Given the description of an element on the screen output the (x, y) to click on. 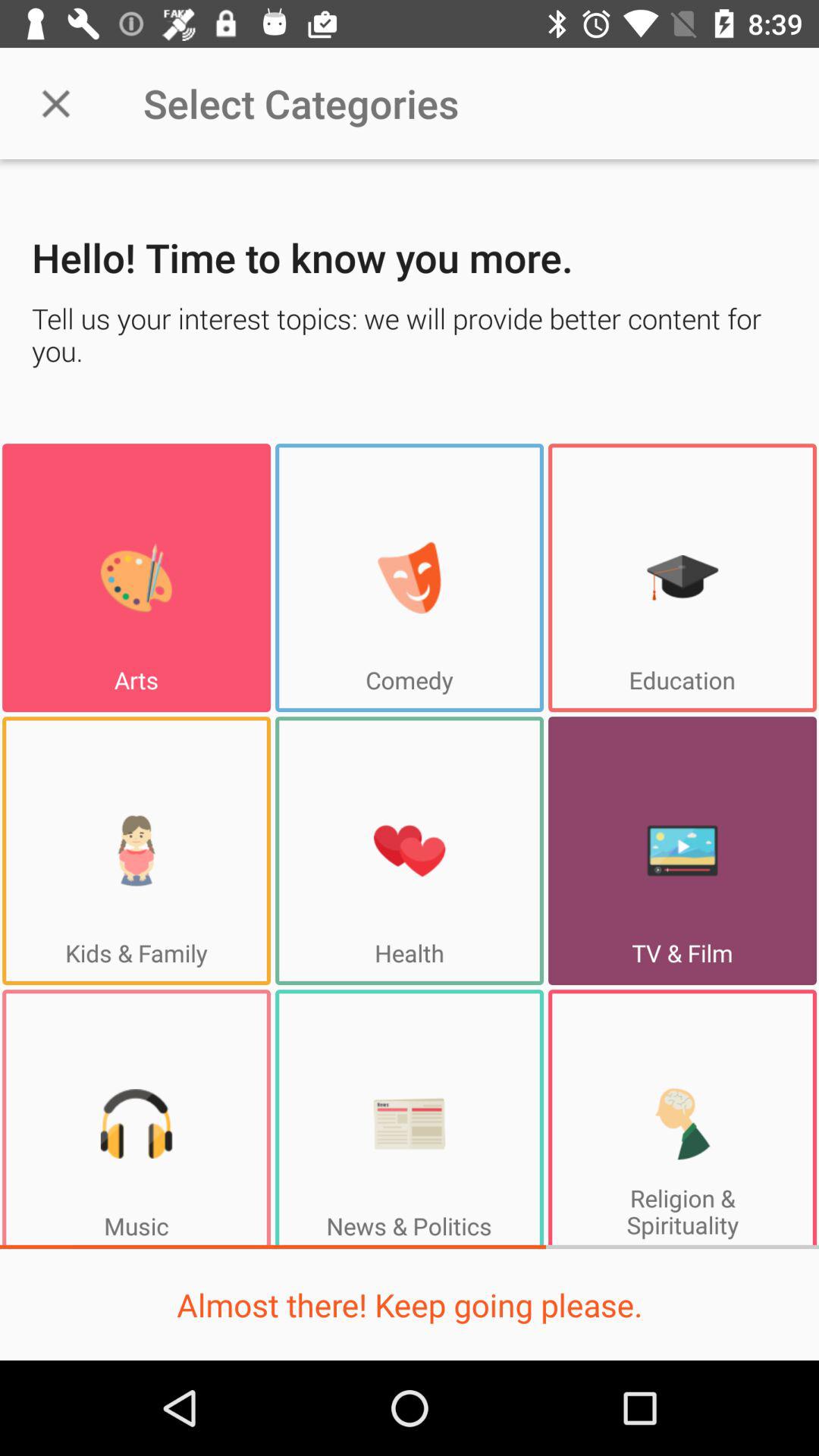
open the icon next to select categories (55, 103)
